Given the description of an element on the screen output the (x, y) to click on. 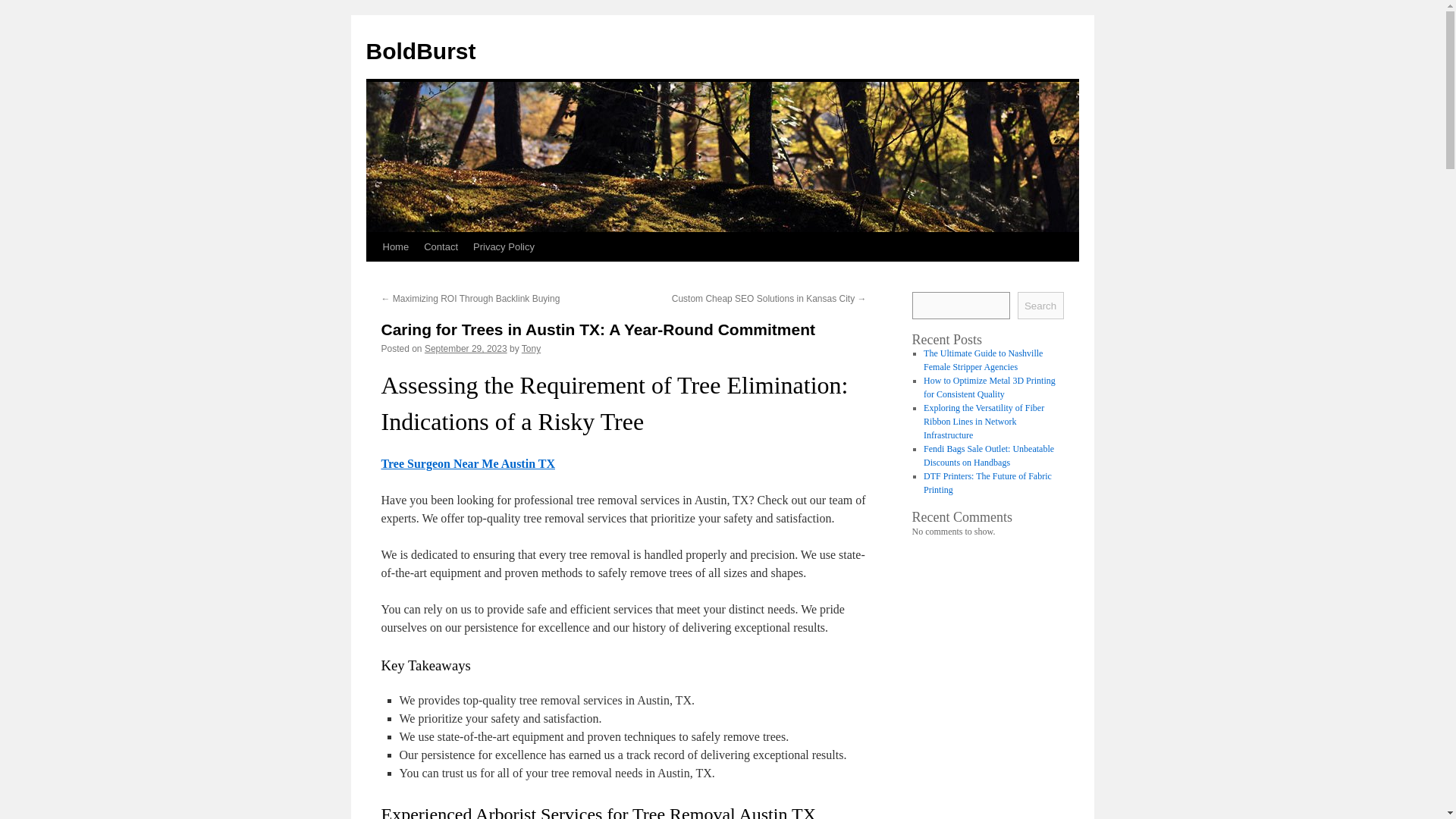
DTF Printers: The Future of Fabric Printing (987, 482)
BoldBurst (420, 50)
Tony (530, 348)
Home (395, 246)
Search (1040, 305)
Tree Surgeon Near Me Austin TX (467, 463)
4:44 pm (465, 348)
The Ultimate Guide to Nashville Female Stripper Agencies (982, 360)
View all posts by Tony (530, 348)
Fendi Bags Sale Outlet: Unbeatable Discounts on Handbags (988, 455)
Contact (440, 246)
Privacy Policy (503, 246)
September 29, 2023 (465, 348)
How to Optimize Metal 3D Printing for Consistent Quality (989, 387)
